Given the description of an element on the screen output the (x, y) to click on. 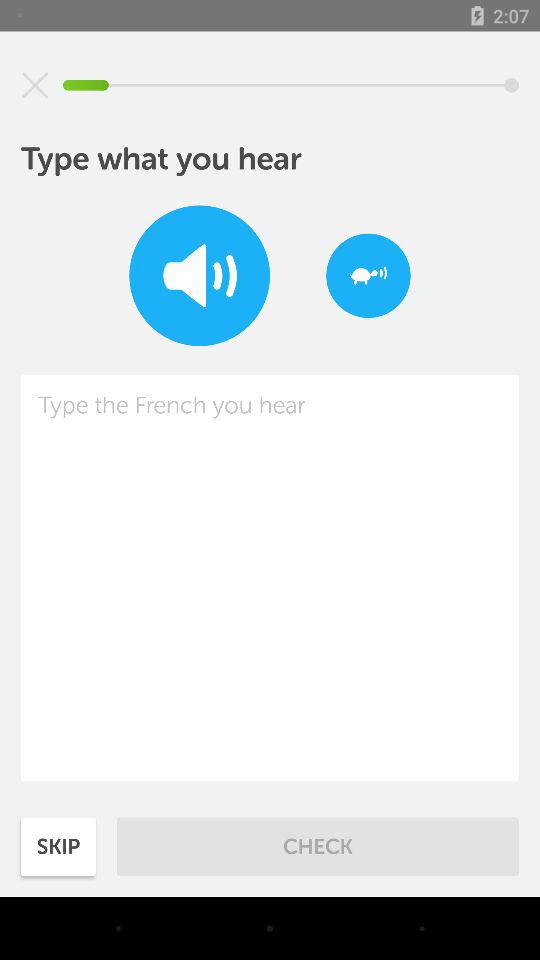
open the skip at the bottom left corner (58, 846)
